Given the description of an element on the screen output the (x, y) to click on. 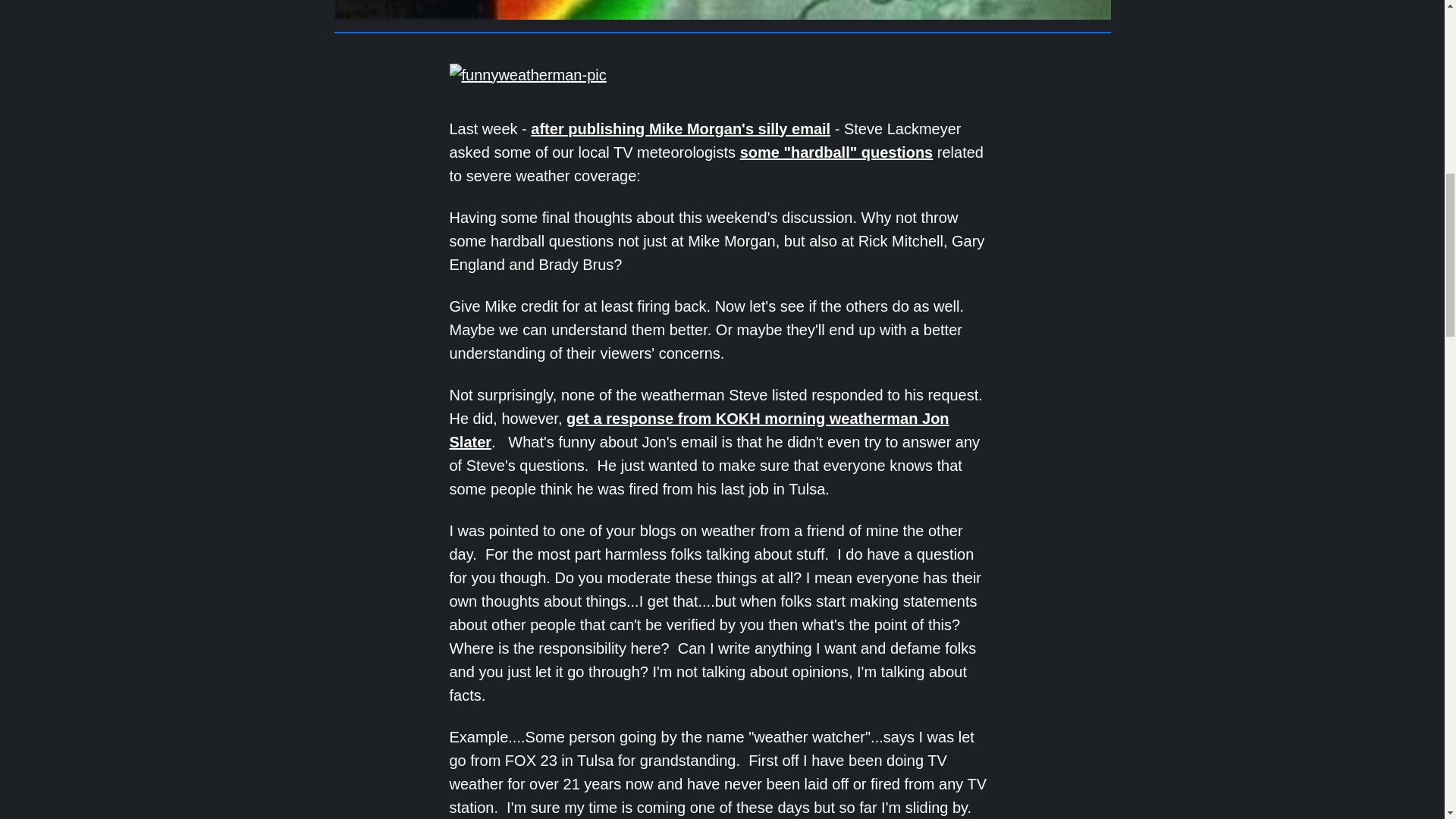
get a response from KOKH morning weatherman Jon Slater (698, 430)
some "hardball" questions (836, 152)
funnyweatherman-pic (526, 74)
after publishing Mike Morgan's silly email (680, 128)
